Given the description of an element on the screen output the (x, y) to click on. 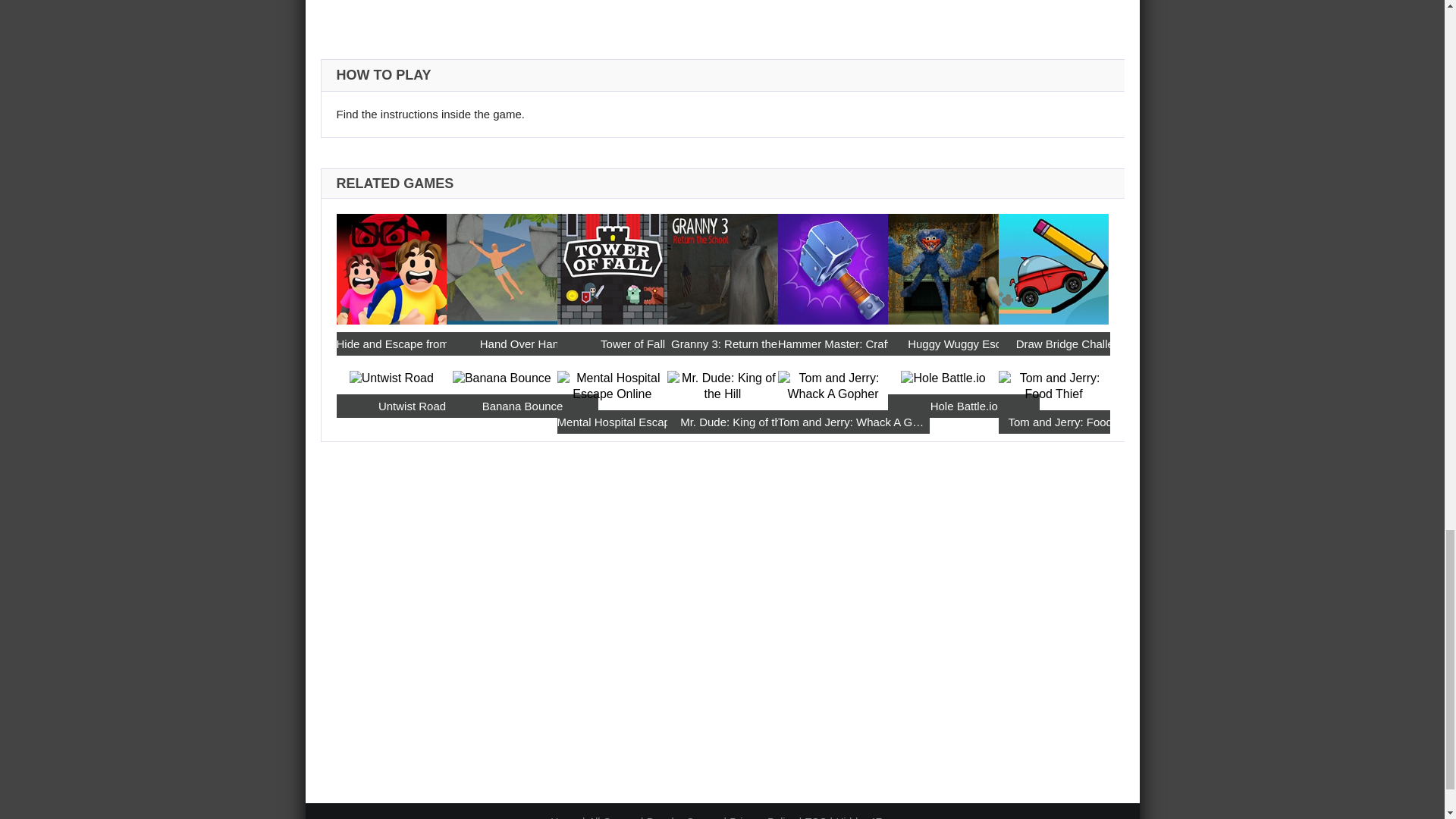
Hide and Escape from Angry Teacher (391, 264)
Tower of Fall (612, 264)
Draw Bridge Challenge (1074, 343)
Hand Over Hand (501, 264)
Granny 3: Return the School (742, 343)
Hide and Escape from Angry Teacher (411, 343)
Hammer Master: Craft and Destroy (832, 264)
Draw Bridge Challenge (1053, 264)
Tower of Fall (633, 343)
Hammer Master: Craft and Destroy (853, 343)
